Given the description of an element on the screen output the (x, y) to click on. 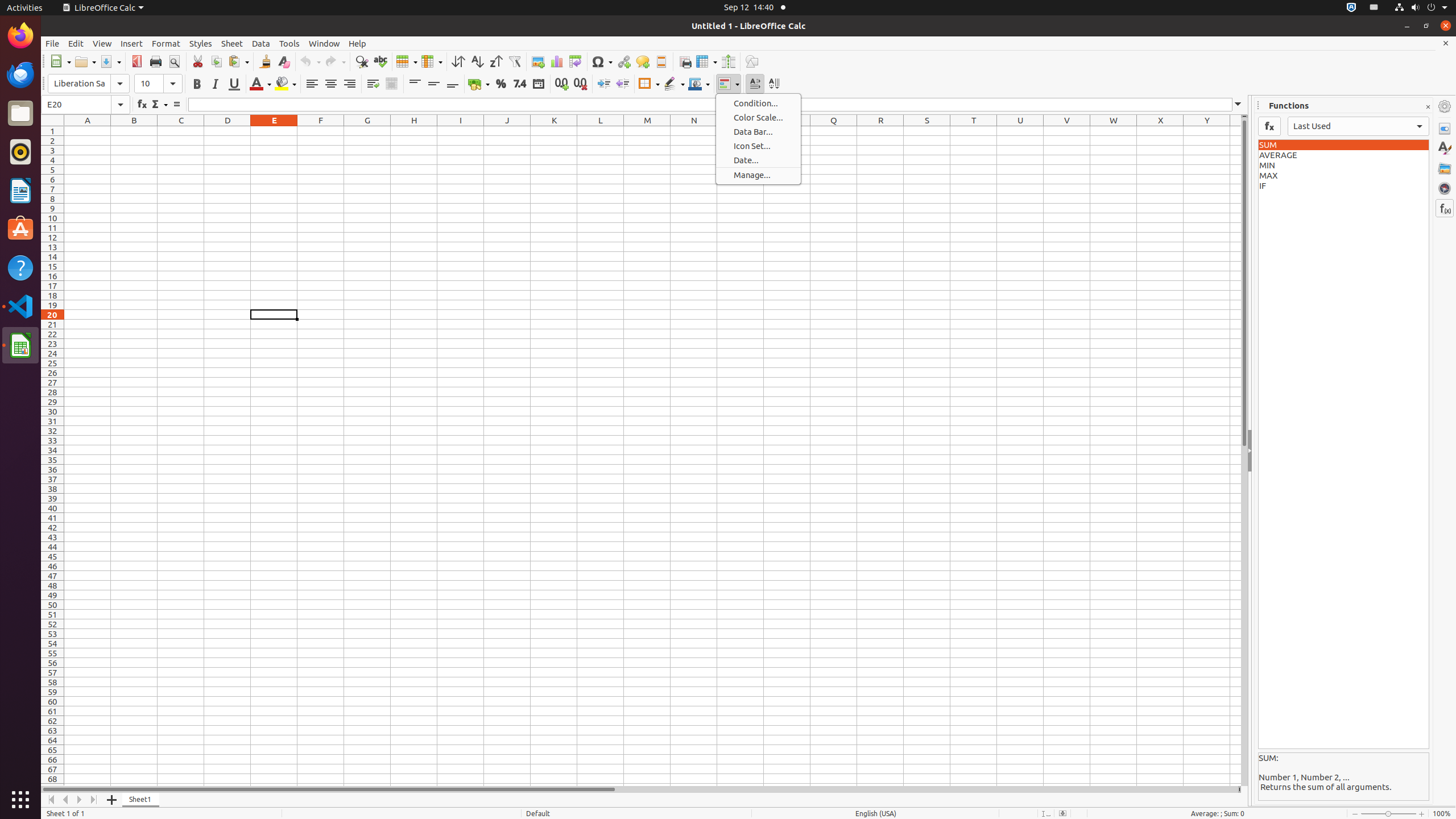
Thunderbird Mail Element type: push-button (20, 74)
LibreOffice Calc Element type: push-button (20, 344)
Files Element type: push-button (20, 113)
:1.21/StatusNotifierItem Element type: menu (1373, 7)
:1.72/StatusNotifierItem Element type: menu (1350, 7)
